Given the description of an element on the screen output the (x, y) to click on. 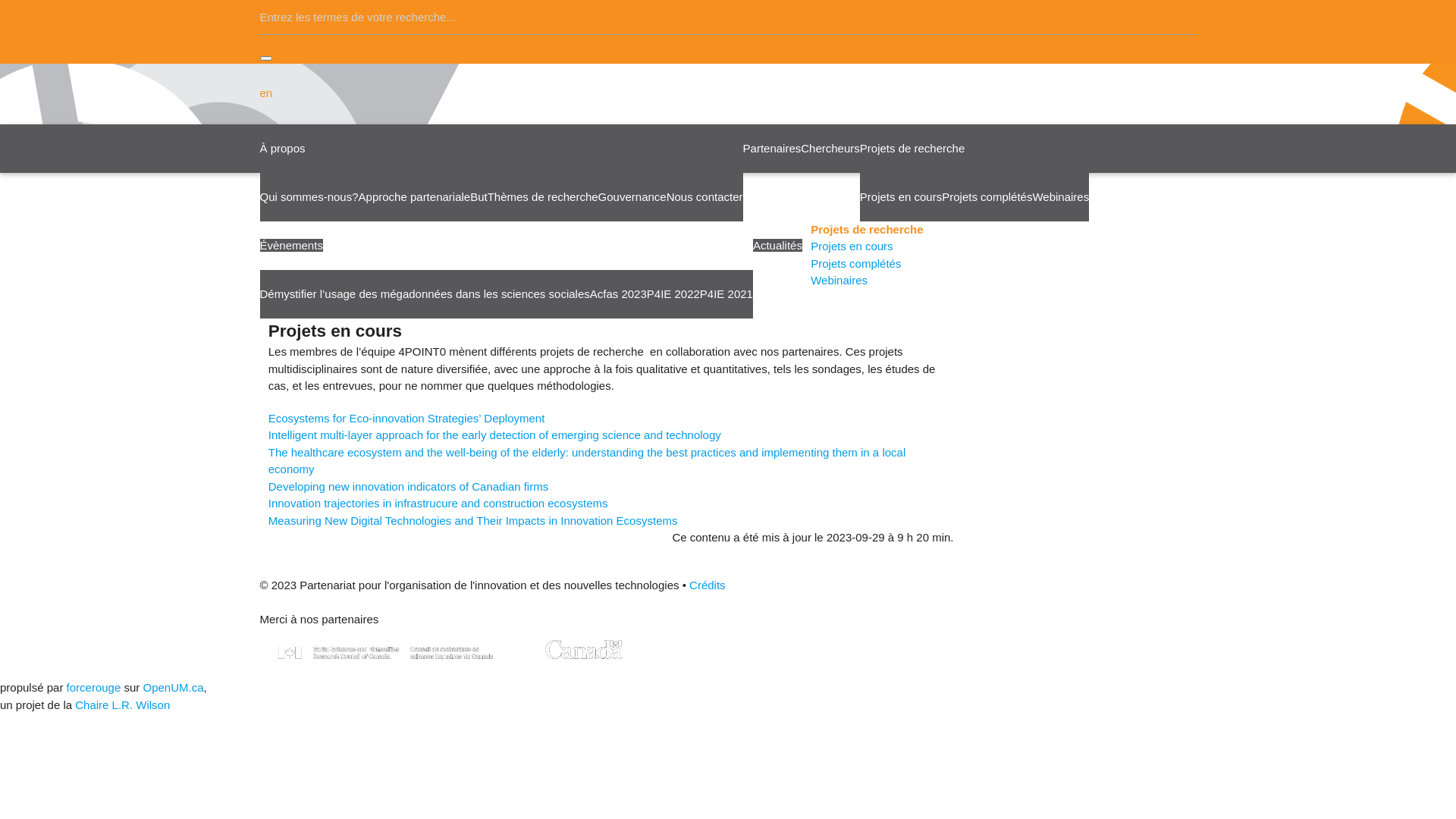
Partenaires Element type: text (772, 147)
Projets en cours Element type: text (900, 195)
Developing new innovation indicators of Canadian firms Element type: text (408, 486)
But Element type: text (478, 195)
Projets en cours Element type: text (851, 245)
Gouvernance Element type: text (632, 195)
forcerouge Element type: text (93, 686)
Approche partenariale Element type: text (414, 195)
Chercheurs Element type: text (829, 147)
Qui sommes-nous? Element type: text (308, 195)
P4IE 2021 Element type: text (726, 292)
Nous contacter Element type: text (704, 195)
Chaire L.R. Wilson Element type: text (122, 704)
OpenUM.ca Element type: text (172, 686)
Webinaires Element type: text (1060, 195)
en Element type: text (265, 92)
Webinaires Element type: text (838, 279)
Acfas 2023 Element type: text (617, 292)
Projets de recherche Element type: text (911, 147)
P4IE 2022 Element type: text (672, 292)
